Given the description of an element on the screen output the (x, y) to click on. 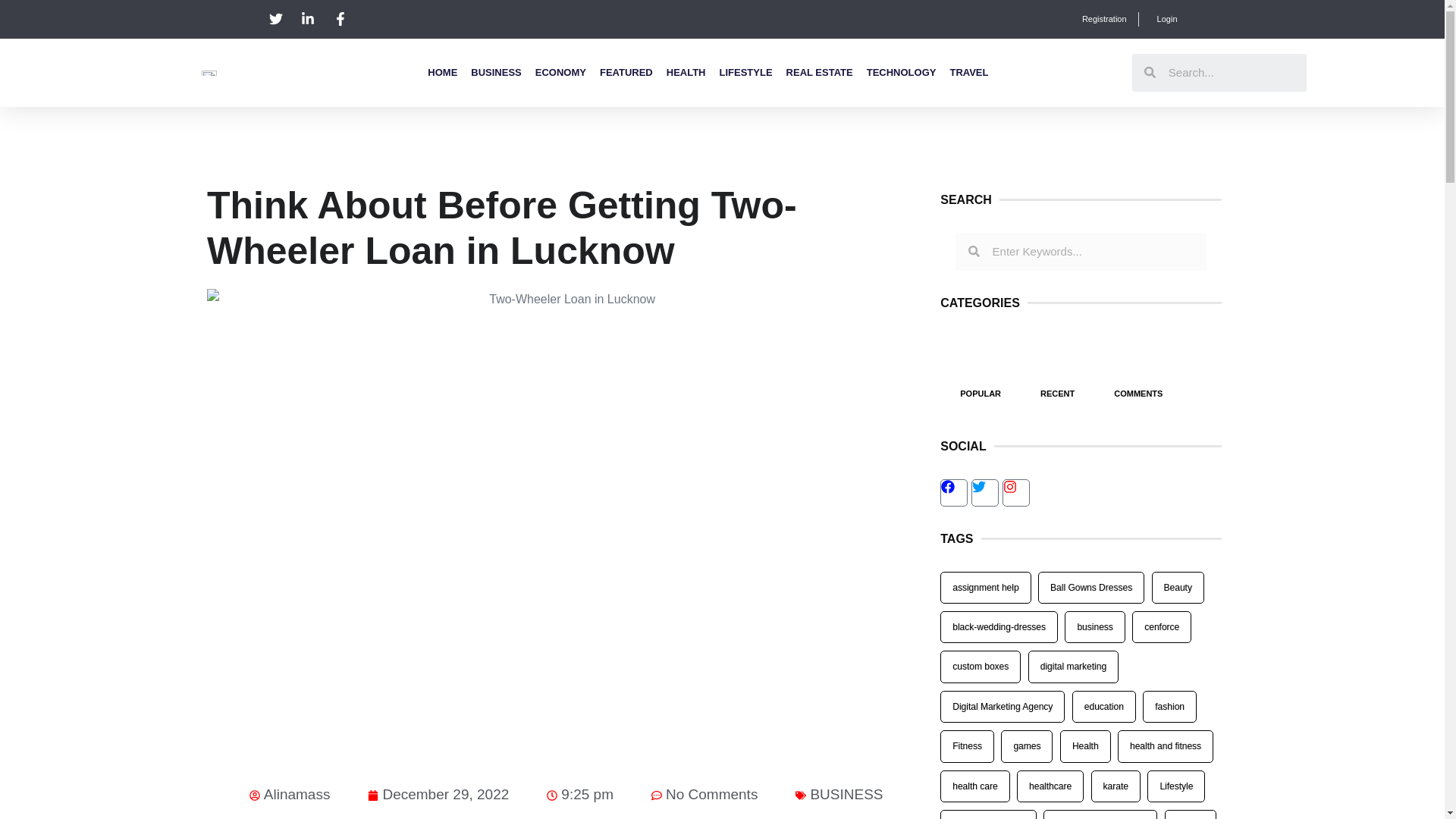
Search (1231, 72)
HEALTH (686, 72)
LIFESTYLE (746, 72)
assignment help (985, 587)
BUSINESS (495, 72)
REAL ESTATE (819, 72)
TECHNOLOGY (901, 72)
FEATURED (625, 72)
Alinamass (289, 794)
ECONOMY (560, 72)
TRAVEL (968, 72)
BUSINESS (845, 794)
Login (1163, 19)
Search (1093, 251)
Ball Gowns Dresses (1091, 587)
